Given the description of an element on the screen output the (x, y) to click on. 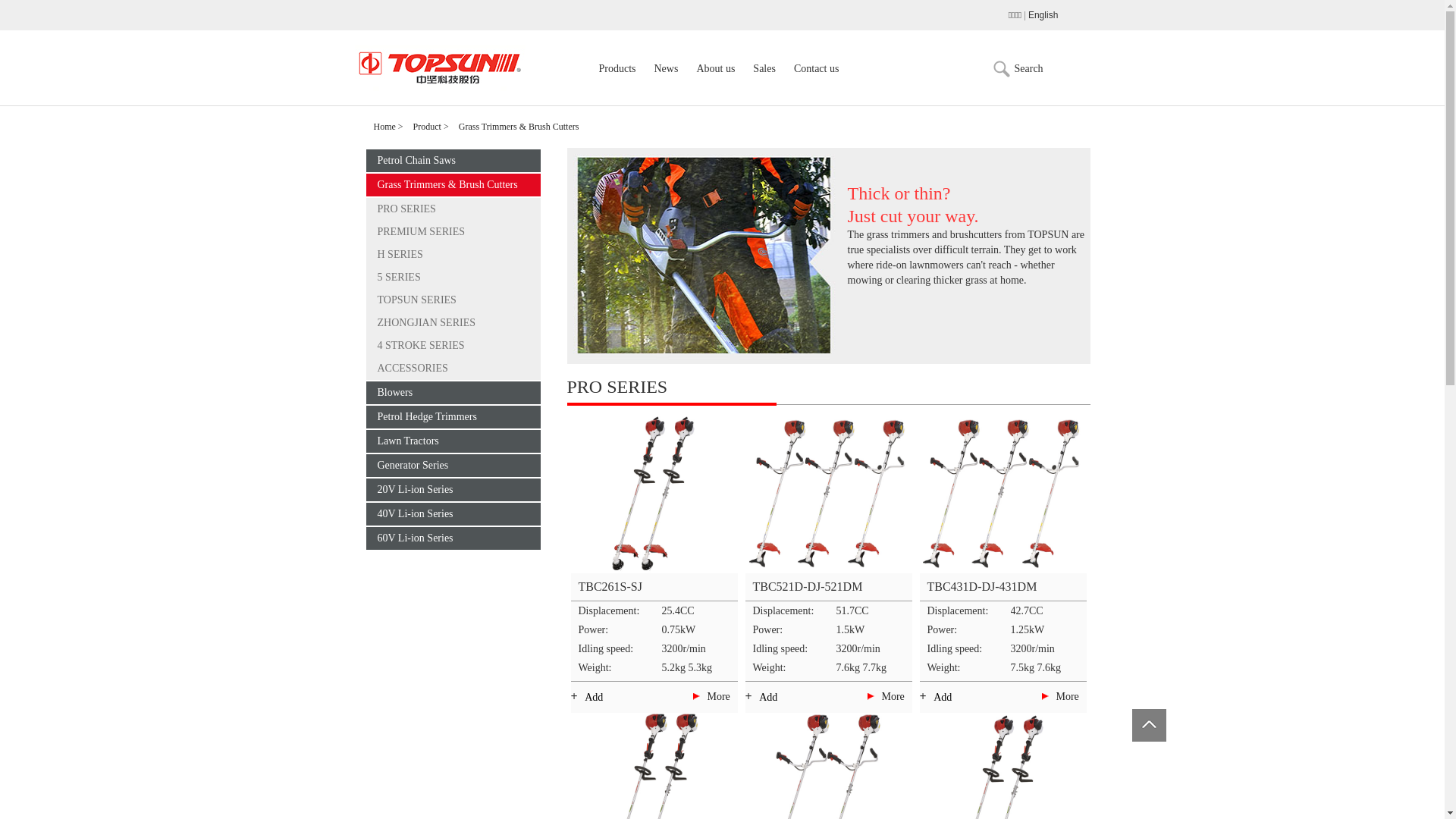
+ Element type: text (949, 696)
Add Element type: text (593, 697)
20V Li-ion Series Element type: text (452, 489)
5 SERIES Element type: text (452, 277)
Add Element type: text (942, 697)
Grass Trimmers & Brush Cutters Element type: text (518, 126)
English Element type: text (1042, 14)
Blowers Element type: text (452, 392)
More Element type: text (717, 696)
+ Element type: text (600, 696)
Contact us Element type: text (816, 86)
+ Element type: text (949, 696)
Petrol Chain Saws Element type: text (452, 160)
ACCESSORIES Element type: text (452, 368)
Add Element type: text (767, 697)
Lawn Tractors Element type: text (452, 440)
+ Element type: text (774, 696)
About us Element type: text (715, 86)
PRO SERIES Element type: text (452, 208)
TOPSUN SERIES Element type: text (452, 299)
+ Element type: text (600, 696)
40V Li-ion Series Element type: text (452, 513)
News Element type: text (665, 86)
ZHONGJIAN SERIES Element type: text (452, 322)
More Element type: text (1066, 696)
Sales Element type: text (763, 86)
PREMIUM SERIES Element type: text (452, 231)
Home Element type: text (384, 126)
Search Element type: text (1028, 68)
Petrol Hedge Trimmers Element type: text (452, 416)
+ Element type: text (774, 696)
Products Element type: text (617, 86)
Generator Series Element type: text (452, 465)
Product Element type: text (427, 126)
More Element type: text (892, 696)
H SERIES Element type: text (452, 254)
4 STROKE SERIES Element type: text (452, 345)
60V Li-ion Series Element type: text (452, 538)
